Given the description of an element on the screen output the (x, y) to click on. 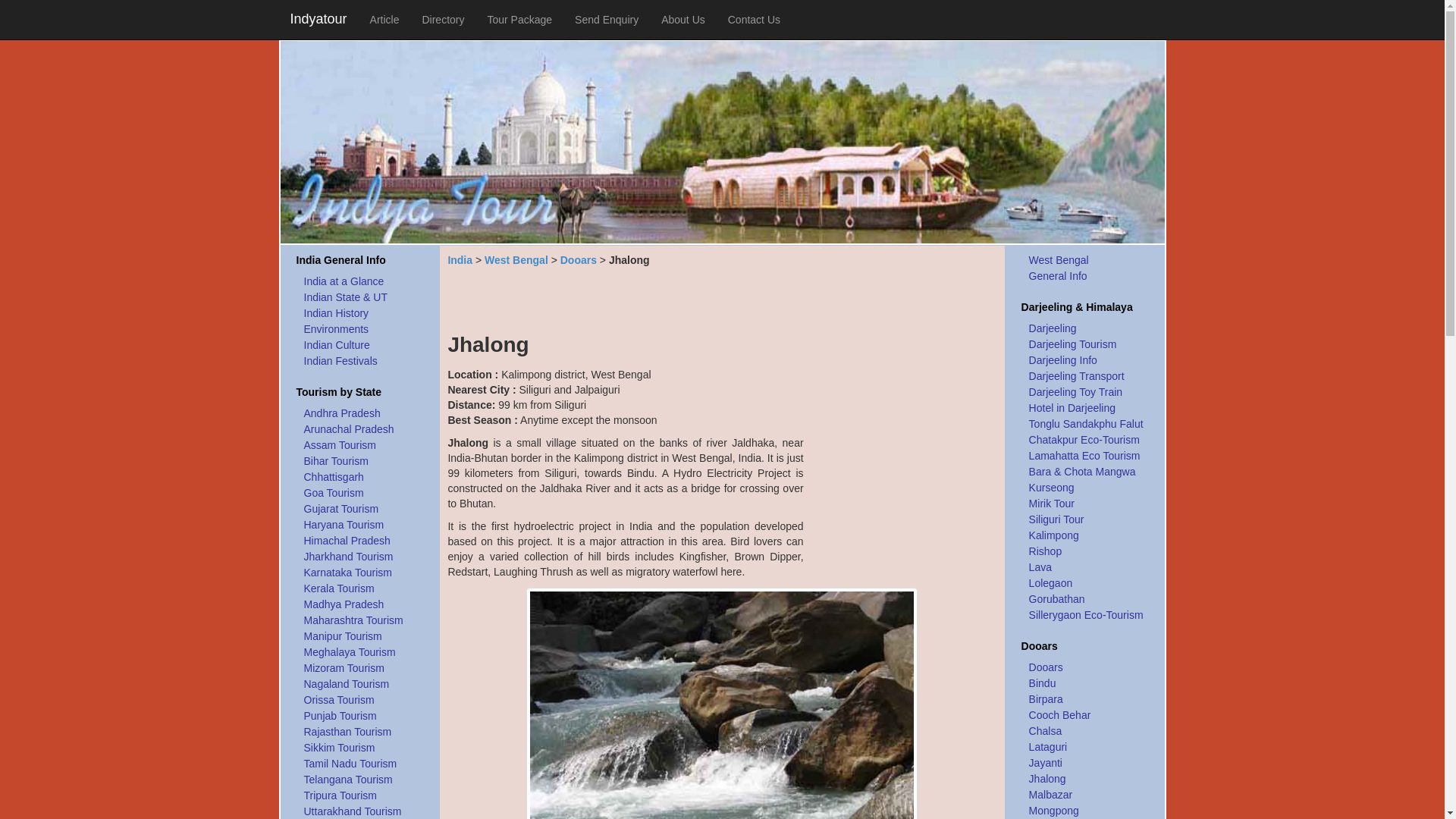
Karnataka Tourism (345, 573)
Tamil Nadu Tourism (345, 764)
Gujarat Tourism (345, 509)
Meghalaya Tourism (345, 652)
Send Enquiry (606, 19)
Indian History (337, 314)
Indian Culture (337, 345)
Mizoram Tourism (345, 668)
Tour Package (519, 19)
Orissa Tourism (345, 700)
